Given the description of an element on the screen output the (x, y) to click on. 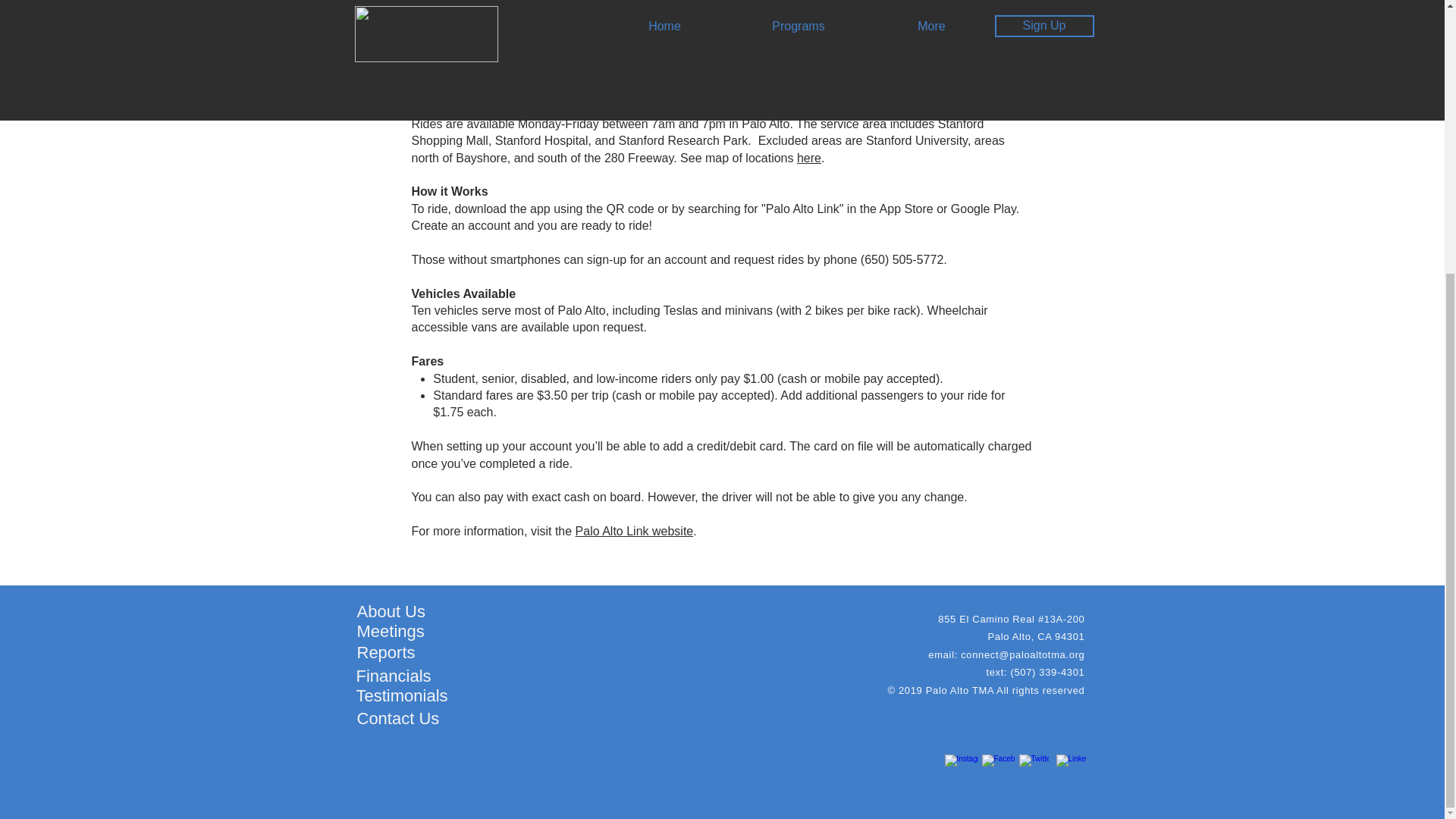
Contact Us (397, 718)
here (808, 157)
Meetings (389, 630)
Palo Alto Link website (634, 530)
About Us (390, 610)
Testimonials (402, 695)
Reports (385, 651)
Financials (393, 675)
